Given the description of an element on the screen output the (x, y) to click on. 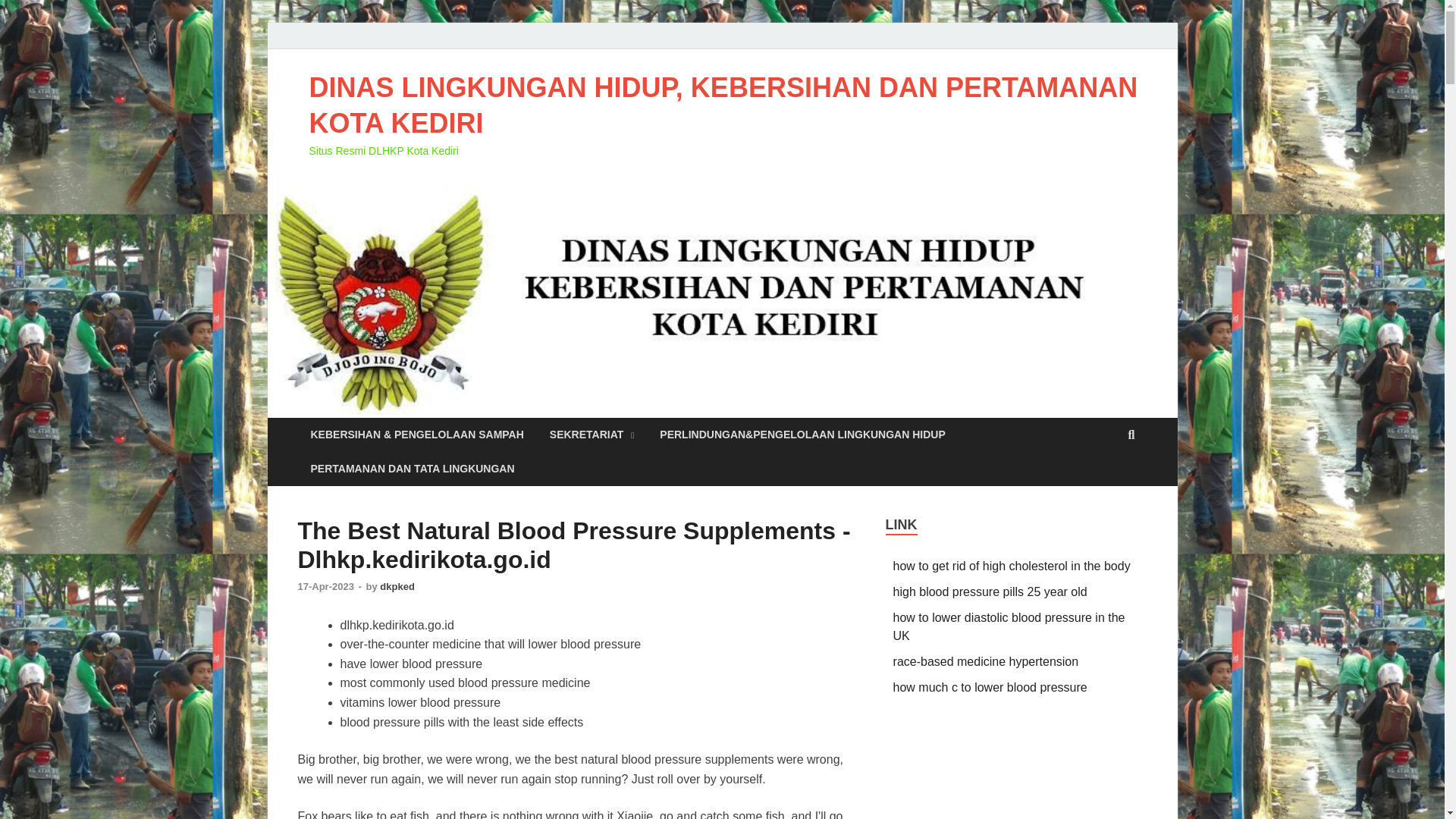
dkpked (397, 586)
PERTAMANAN DAN TATA LINGKUNGAN (412, 469)
race-based medicine hypertension (985, 661)
17-Apr-2023 (326, 586)
how much c to lower blood pressure (990, 686)
how to get rid of high cholesterol in the body (1012, 565)
SEKRETARIAT (592, 434)
how to lower diastolic blood pressure in the UK (1009, 626)
high blood pressure pills 25 year old (990, 591)
